Given the description of an element on the screen output the (x, y) to click on. 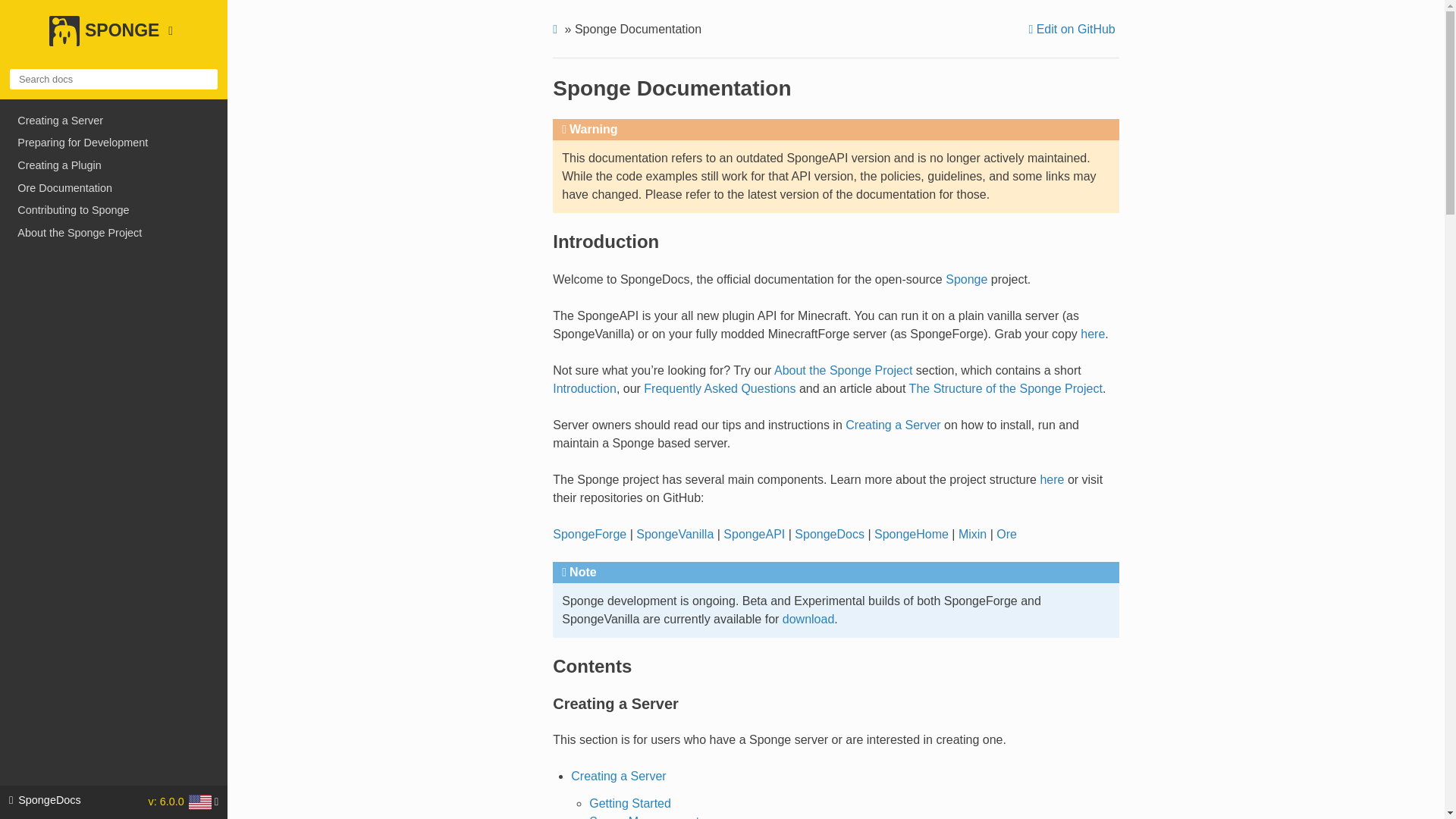
SpongeVanilla (674, 533)
here (1092, 333)
download (808, 618)
About the Sponge Project (843, 369)
The Structure of the Sponge Project (1005, 388)
English (200, 801)
SPONGE (113, 41)
Sponge (965, 278)
SPONGE (113, 38)
Creating a Plugin (113, 164)
Creating a Server (892, 424)
Mixin (972, 533)
Preparing for Development (113, 142)
Ore Documentation (113, 187)
Introduction (584, 388)
